Given the description of an element on the screen output the (x, y) to click on. 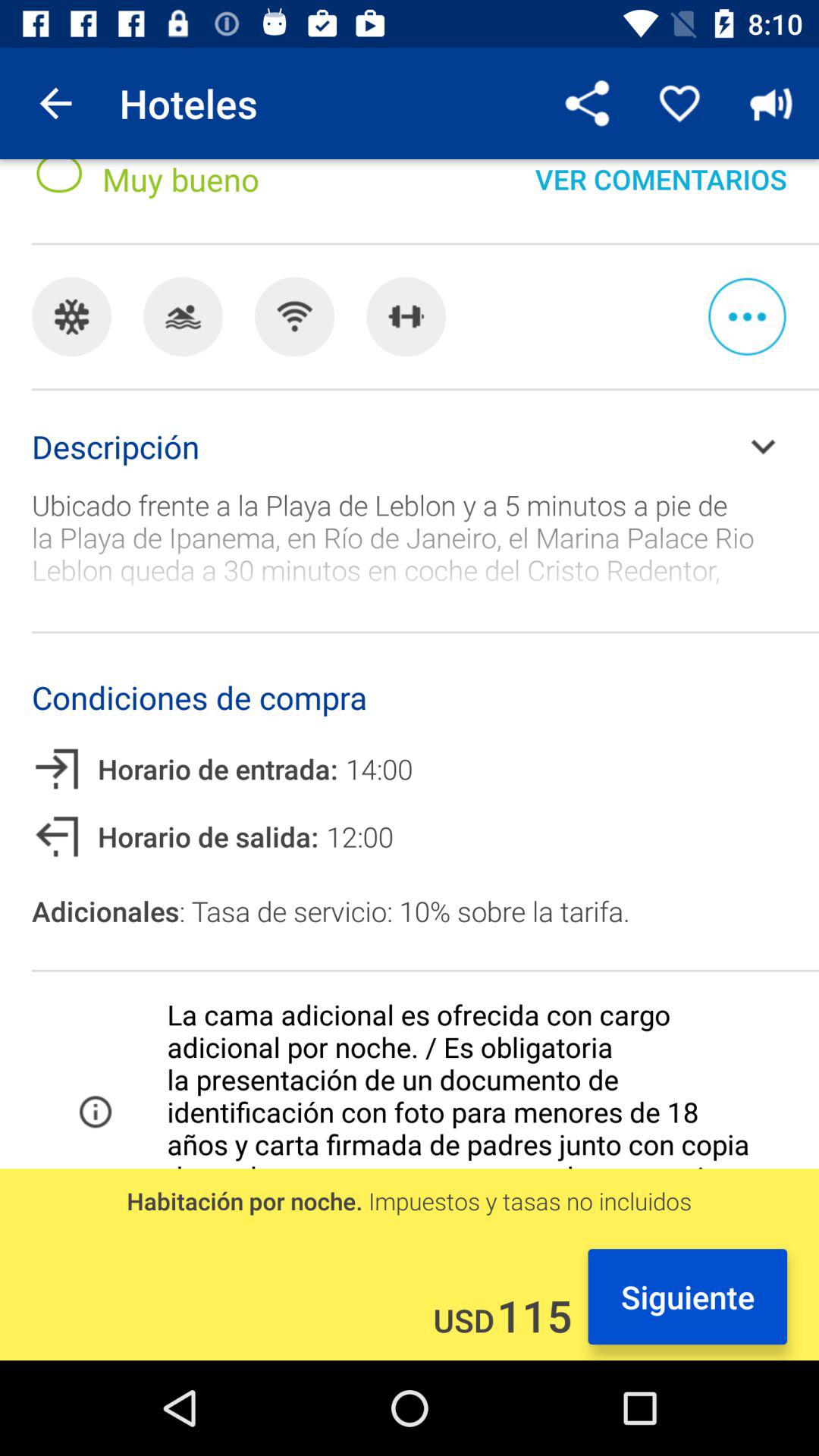
click siguiente icon (687, 1296)
